Given the description of an element on the screen output the (x, y) to click on. 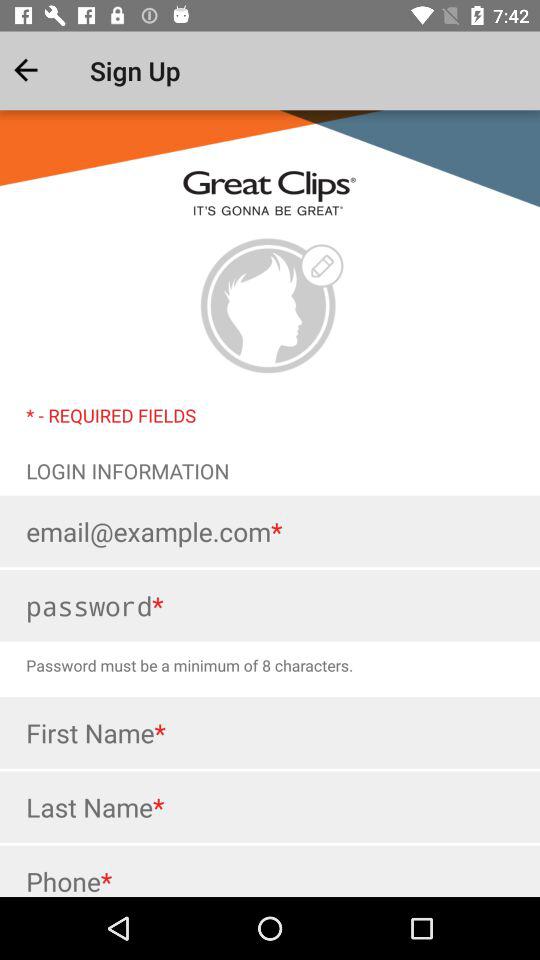
enter password (269, 605)
